Given the description of an element on the screen output the (x, y) to click on. 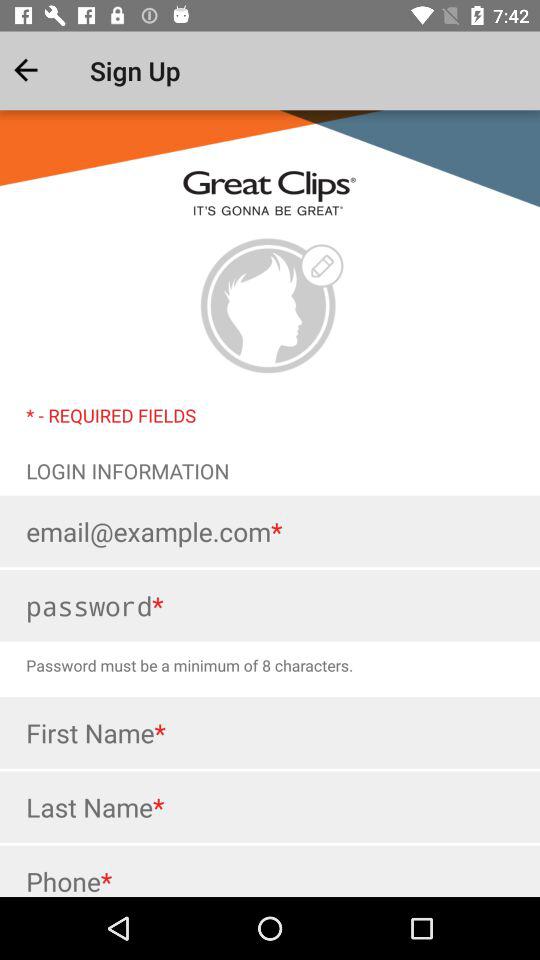
enter password (269, 605)
